Given the description of an element on the screen output the (x, y) to click on. 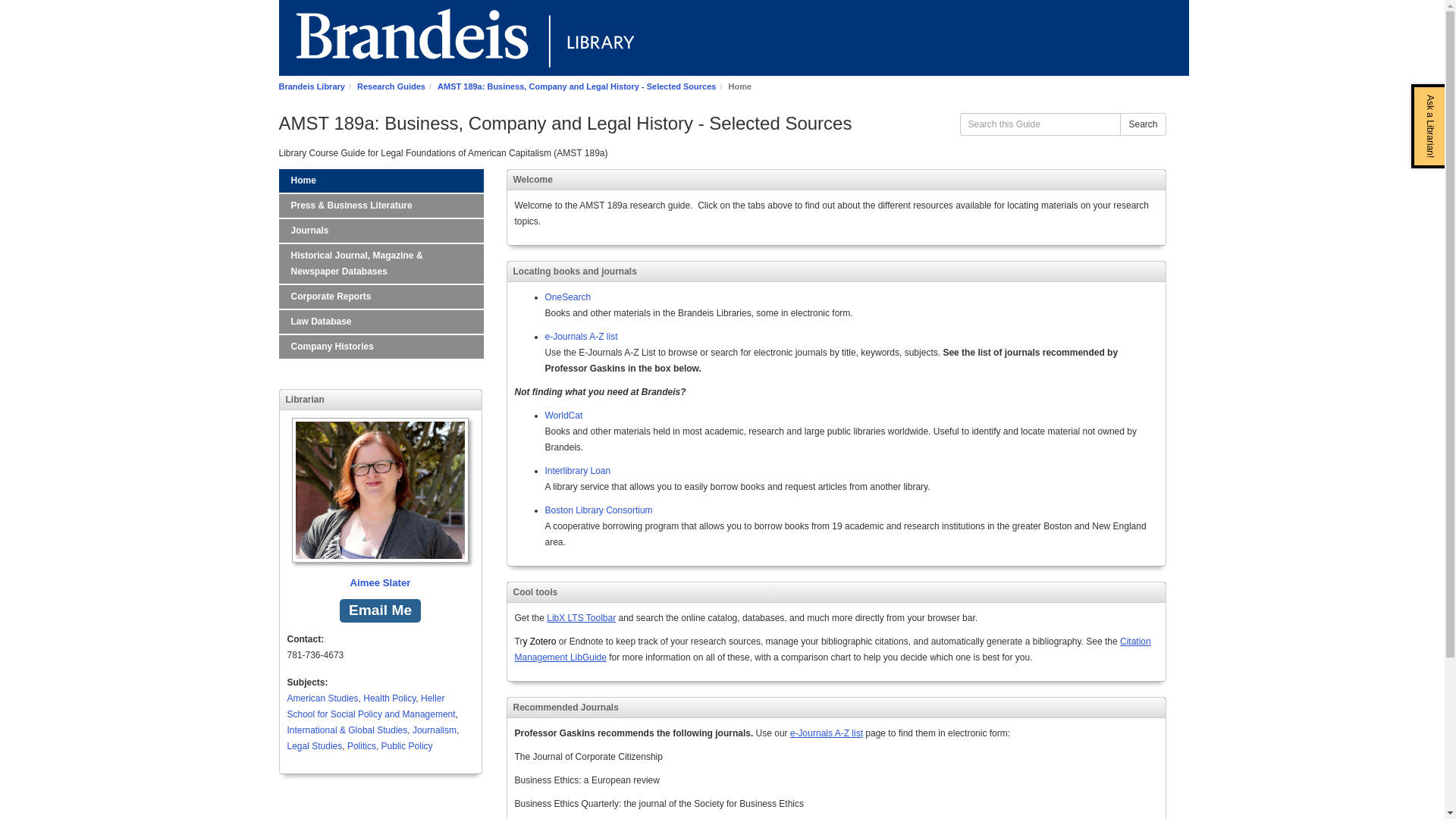
Corporate Reports (381, 296)
e-Journals A-Z list (826, 733)
Boston Library Consortium (598, 510)
Politics (361, 746)
American Studies (322, 697)
Brandeis Library OneSearch (567, 296)
Home (381, 180)
Legal Studies (314, 746)
OneSearch (567, 296)
Citation Management LibGuide (831, 649)
Aimee Slater (379, 504)
WorldCat (563, 415)
Journalism (434, 729)
Law Database (381, 321)
Journals (381, 230)
